Given the description of an element on the screen output the (x, y) to click on. 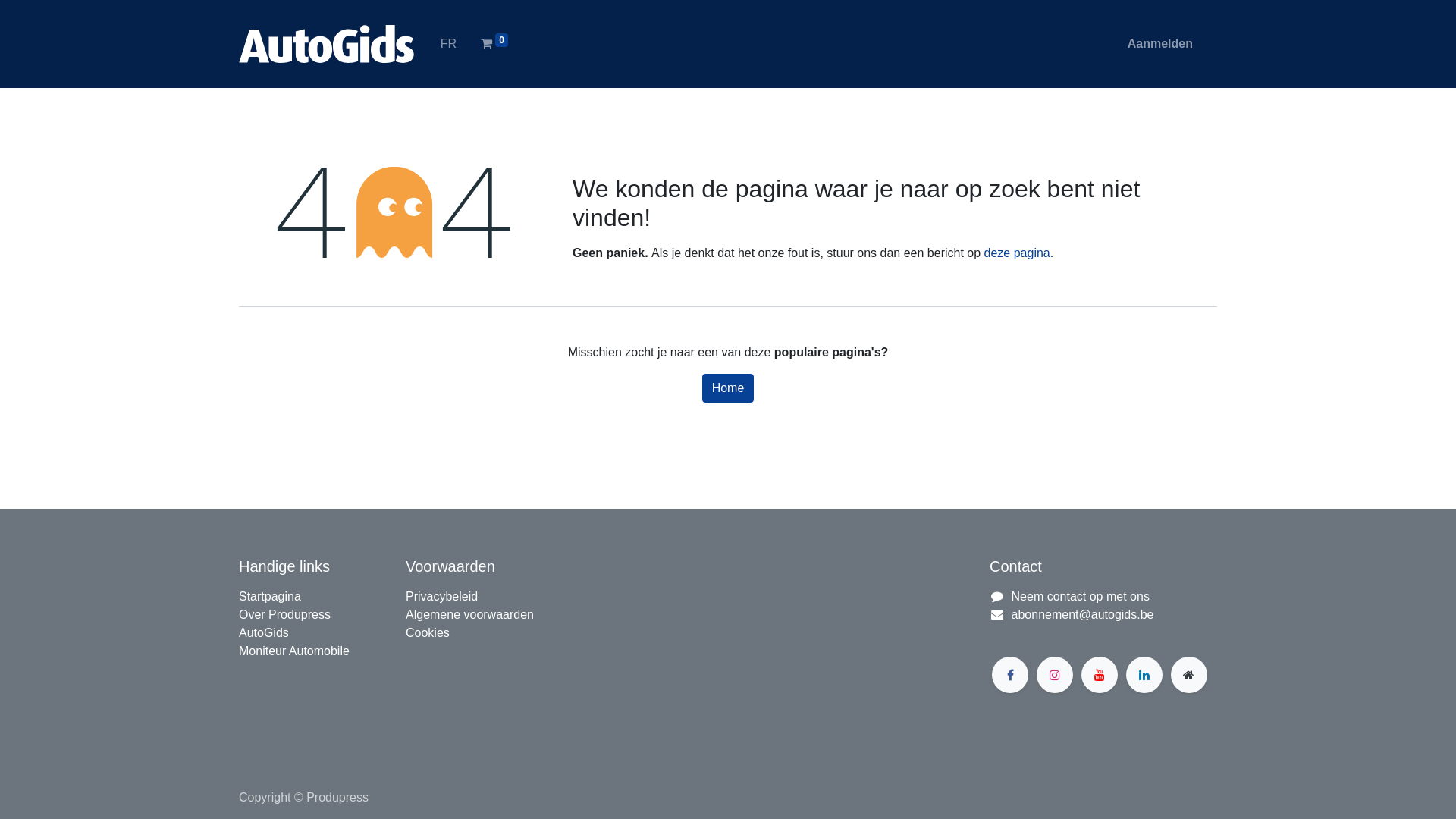
Neem contact op met ons Element type: text (1080, 595)
FR Element type: text (448, 43)
Moniteur Automobile Element type: text (293, 650)
Over Produpress Element type: text (284, 614)
Aanmelden Element type: text (1159, 43)
abonnement@autogids.be Element type: text (1082, 614)
Cookies Element type: text (427, 632)
Home Element type: text (728, 387)
AutoGids Element type: text (263, 632)
Algemene voorwaarden Element type: text (469, 614)
deze pagina Element type: text (1017, 252)
0 Element type: text (494, 43)
Startpagina Element type: text (269, 595)
Autogids Element type: hover (327, 43)
Privacybeleid Element type: text (441, 595)
